Given the description of an element on the screen output the (x, y) to click on. 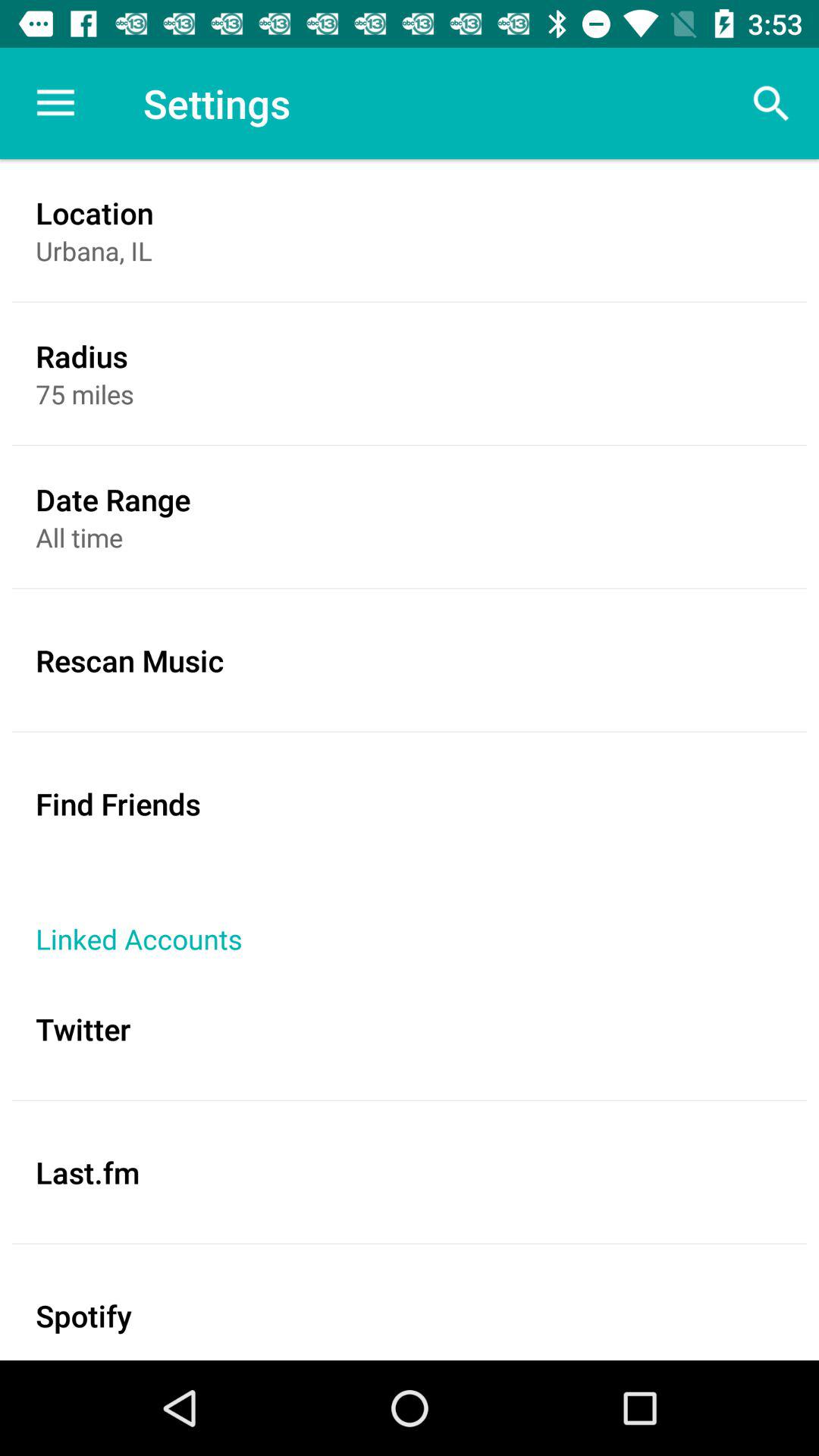
select the item next to the settings (55, 103)
